Given the description of an element on the screen output the (x, y) to click on. 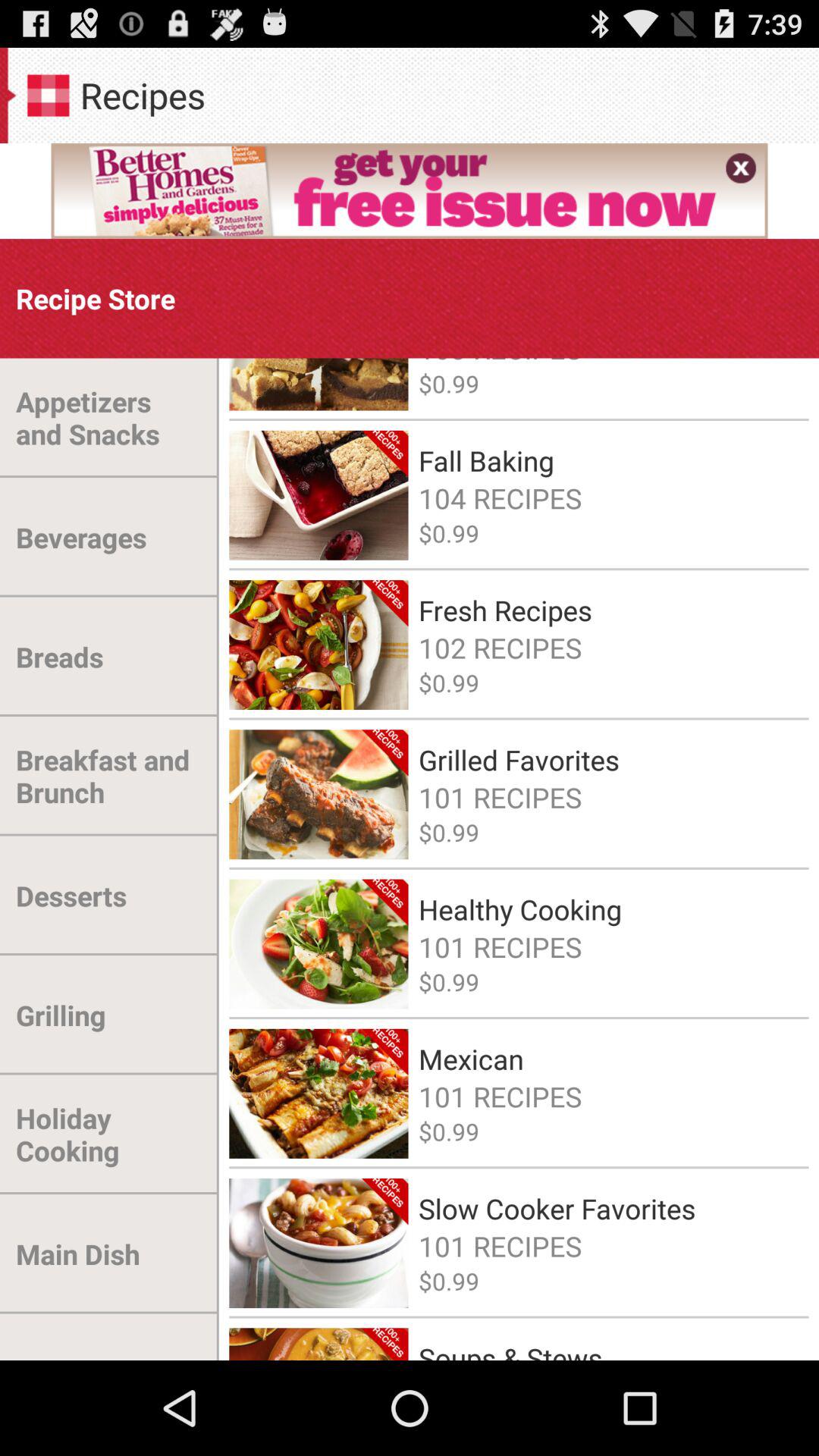
open the grilling (60, 1014)
